Given the description of an element on the screen output the (x, y) to click on. 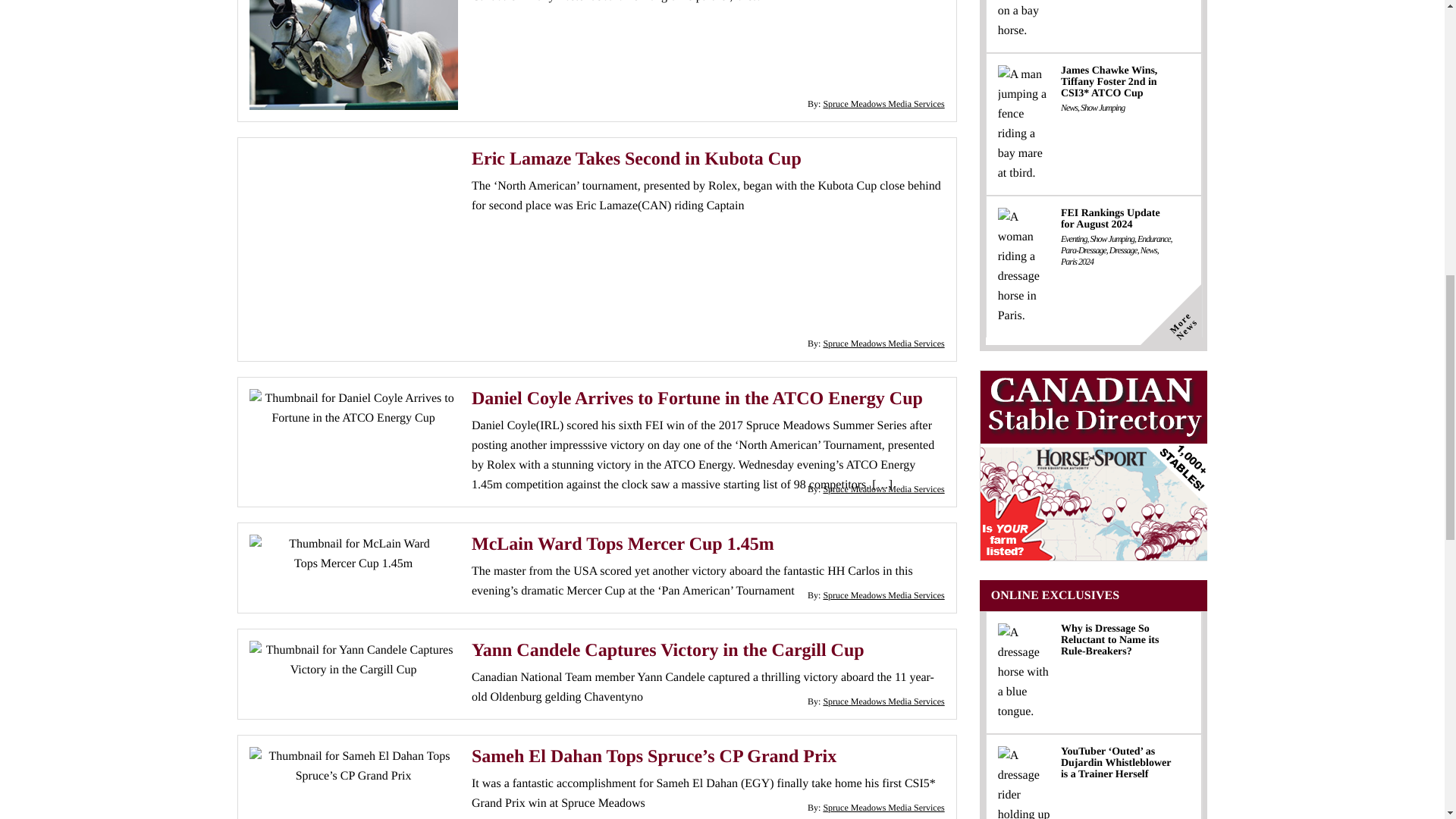
Spruce Meadows Media Services (882, 489)
McLain Ward Tops Mercer Cup 1.45m (622, 544)
Spruce Meadows Media Services (882, 103)
Eric Lamaze Takes Second in Kubota Cup (636, 158)
Spruce Meadows Media Services (882, 343)
Daniel Coyle Arrives to Fortune in the ATCO Energy Cup (697, 398)
Yann Candele Captures Victory in the Cargill Cup (667, 650)
Spruce Meadows Media Services (882, 594)
